Given the description of an element on the screen output the (x, y) to click on. 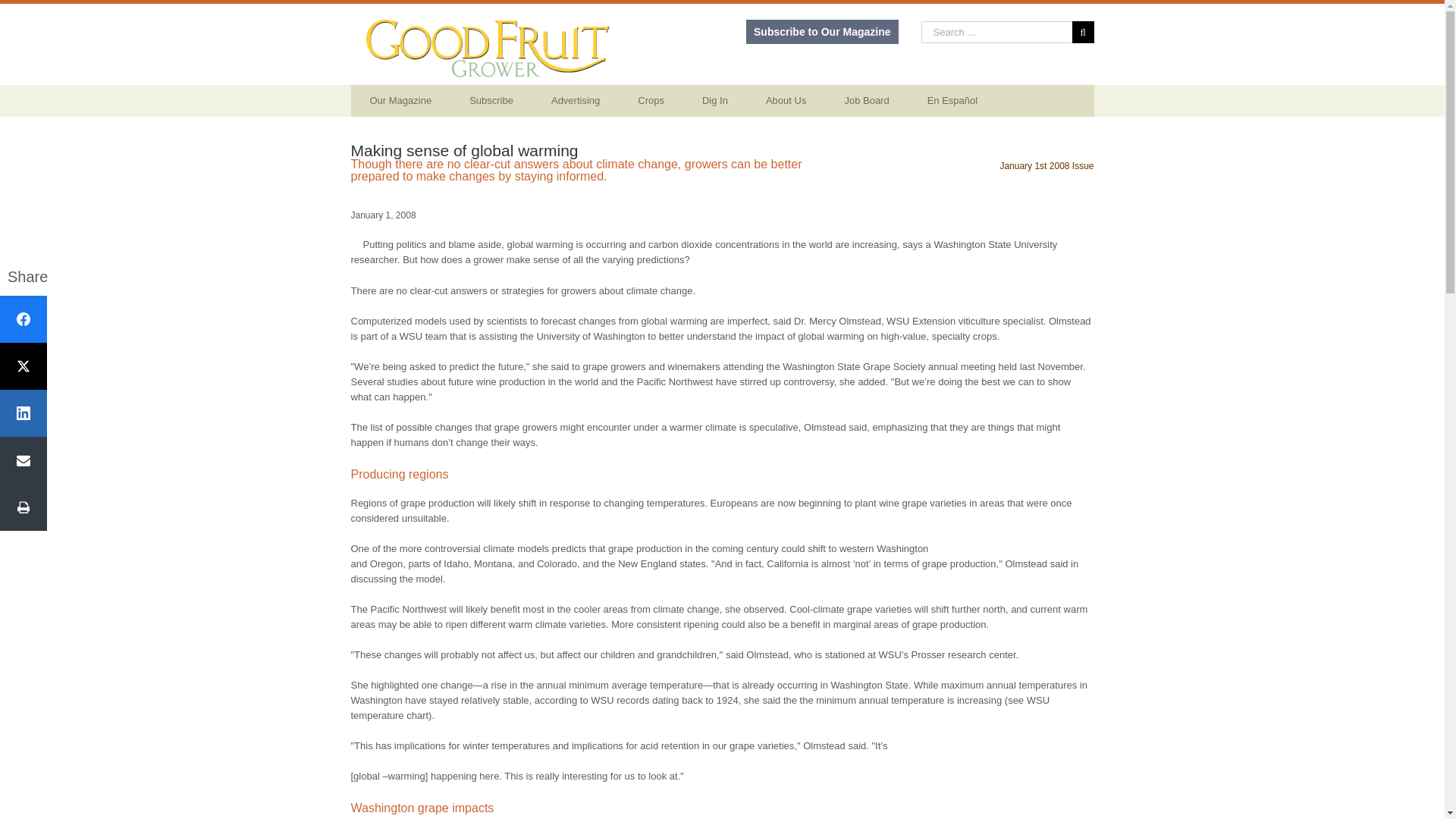
Subscribe (490, 101)
Advertising (575, 101)
Subscribe to Our Magazine (821, 31)
Our Magazine (400, 101)
About Us (785, 101)
